Given the description of an element on the screen output the (x, y) to click on. 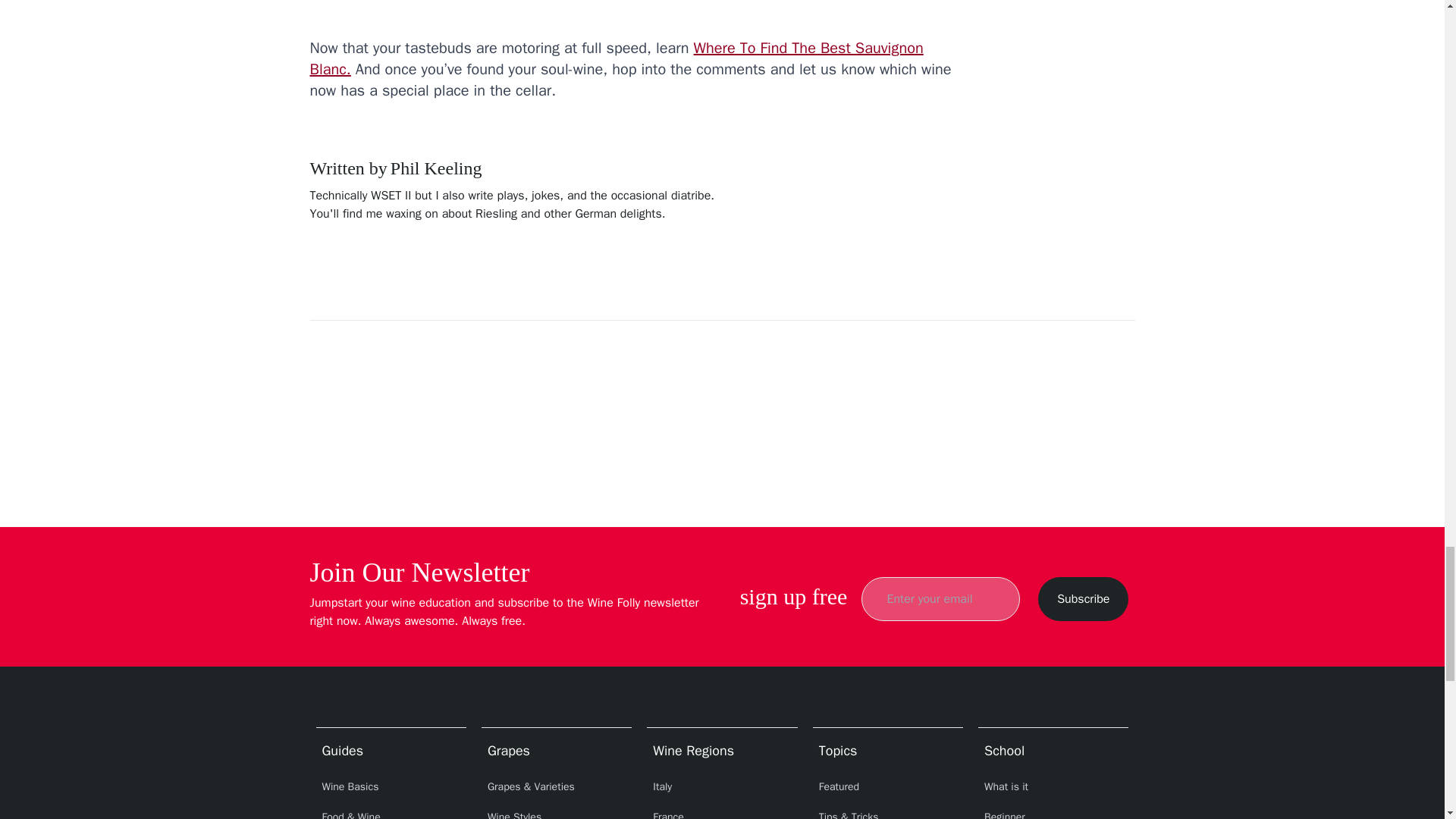
Where To Find The Best Sauvignon Blanc. (615, 58)
France (721, 811)
Italy (721, 786)
Wine Basics (390, 786)
Subscribe (1083, 598)
What is it (1053, 786)
Italy (721, 786)
Wine Styles (556, 811)
Wine Basics (390, 786)
France (721, 811)
